Given the description of an element on the screen output the (x, y) to click on. 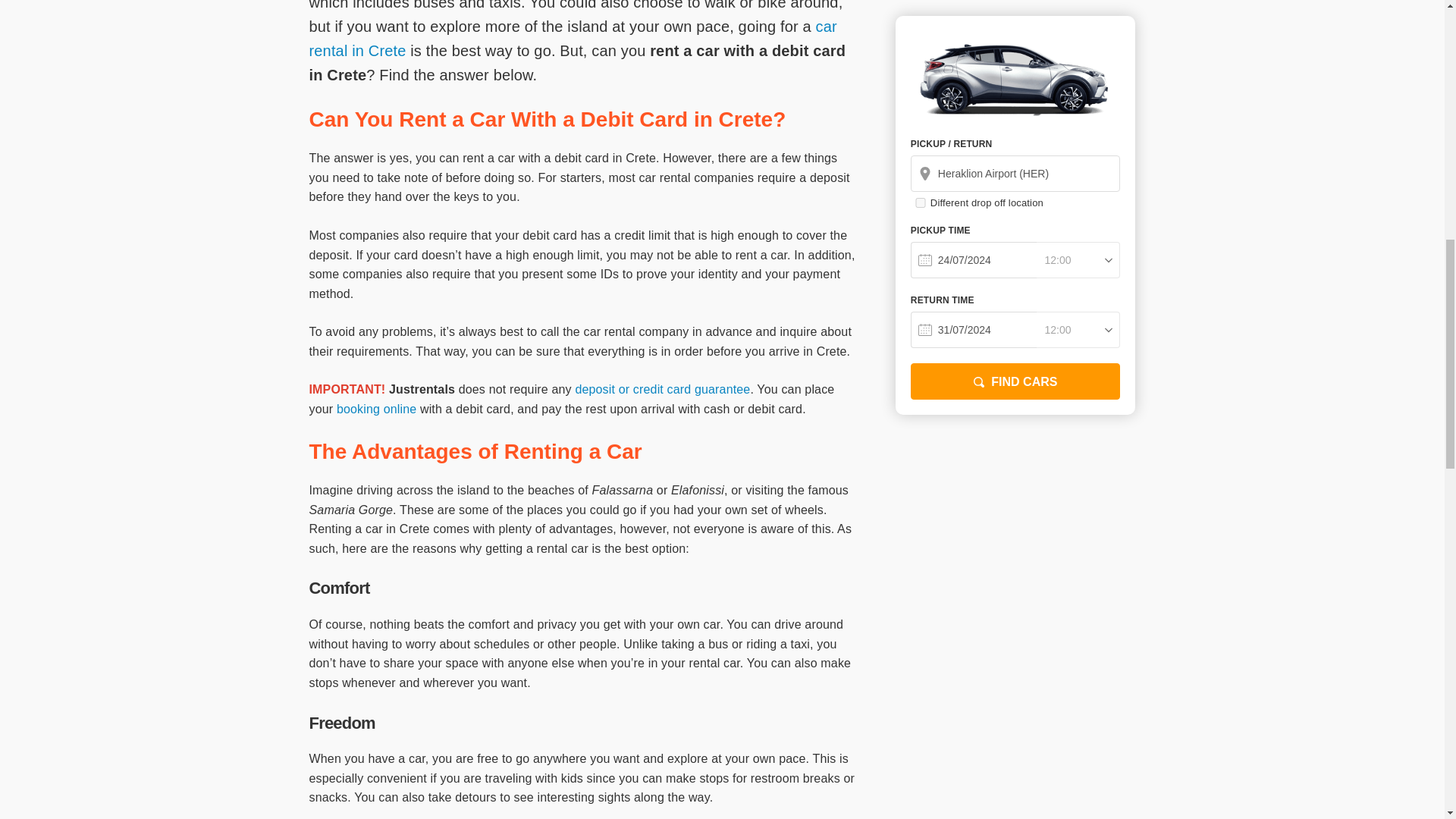
car rental in Crete (572, 38)
deposit or credit card guarantee (662, 389)
booking online (376, 408)
